Given the description of an element on the screen output the (x, y) to click on. 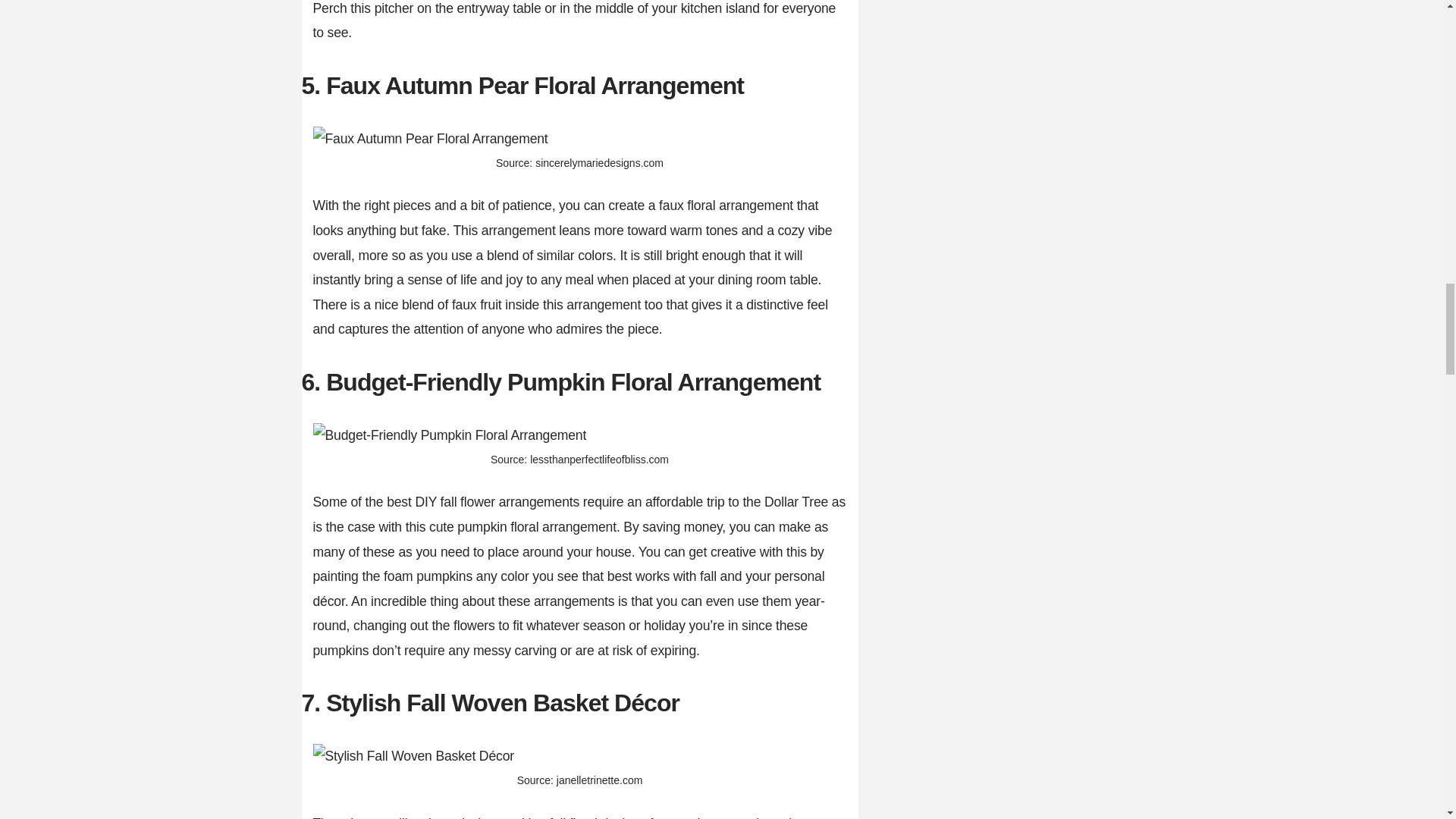
sincerelymariedesigns.com (599, 162)
lessthanperfectlifeofbliss.com (598, 459)
janelletrinette.com (599, 779)
